Given the description of an element on the screen output the (x, y) to click on. 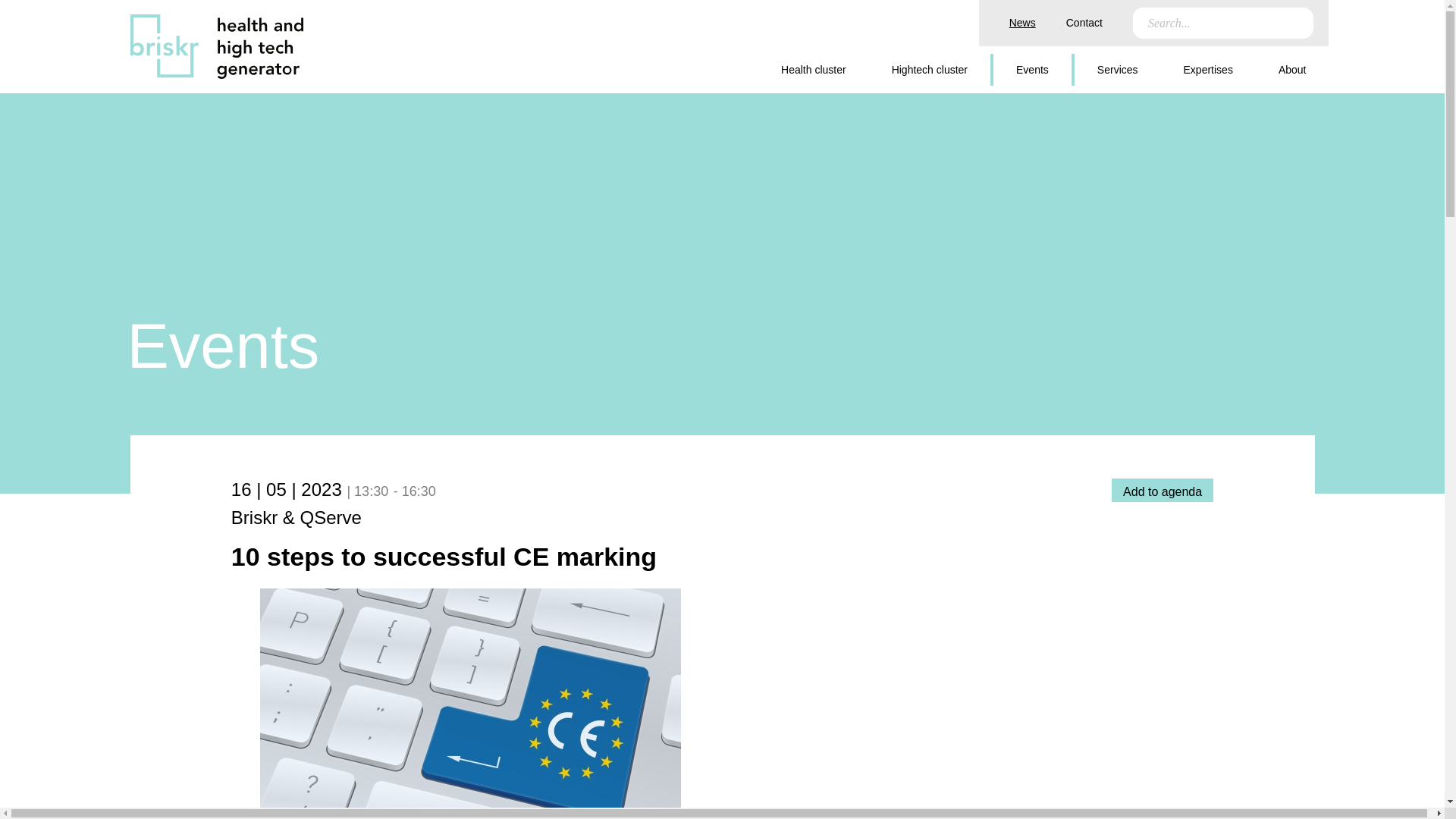
Hightech cluster (929, 69)
Expertises (1208, 69)
About (1292, 69)
Services (1117, 69)
Search for: (1213, 22)
Events (1032, 69)
Contact (1083, 22)
Add to agenda (1162, 490)
News (1022, 22)
Health cluster (812, 69)
